Given the description of an element on the screen output the (x, y) to click on. 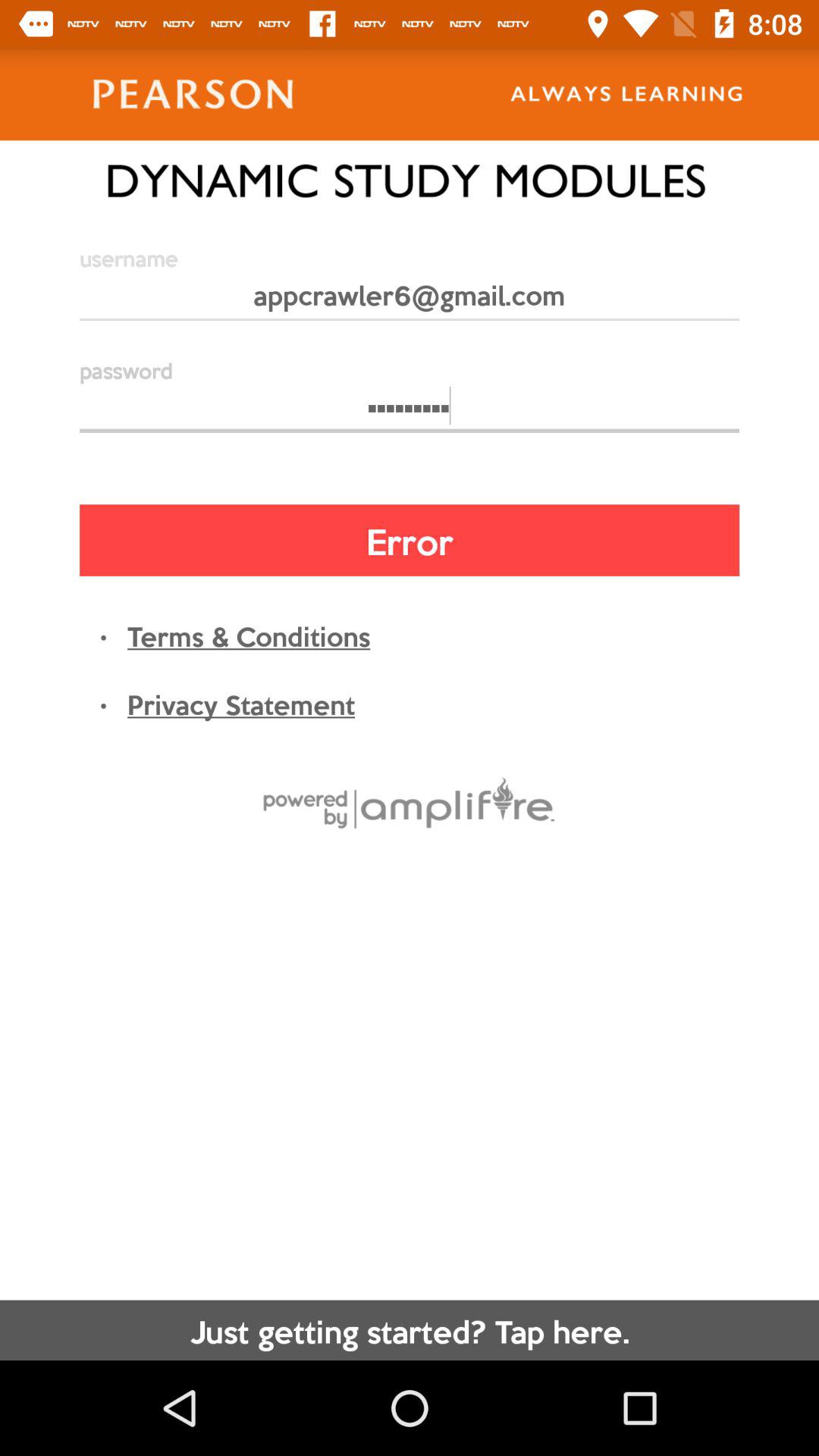
swipe until crowd3116 (409, 413)
